Given the description of an element on the screen output the (x, y) to click on. 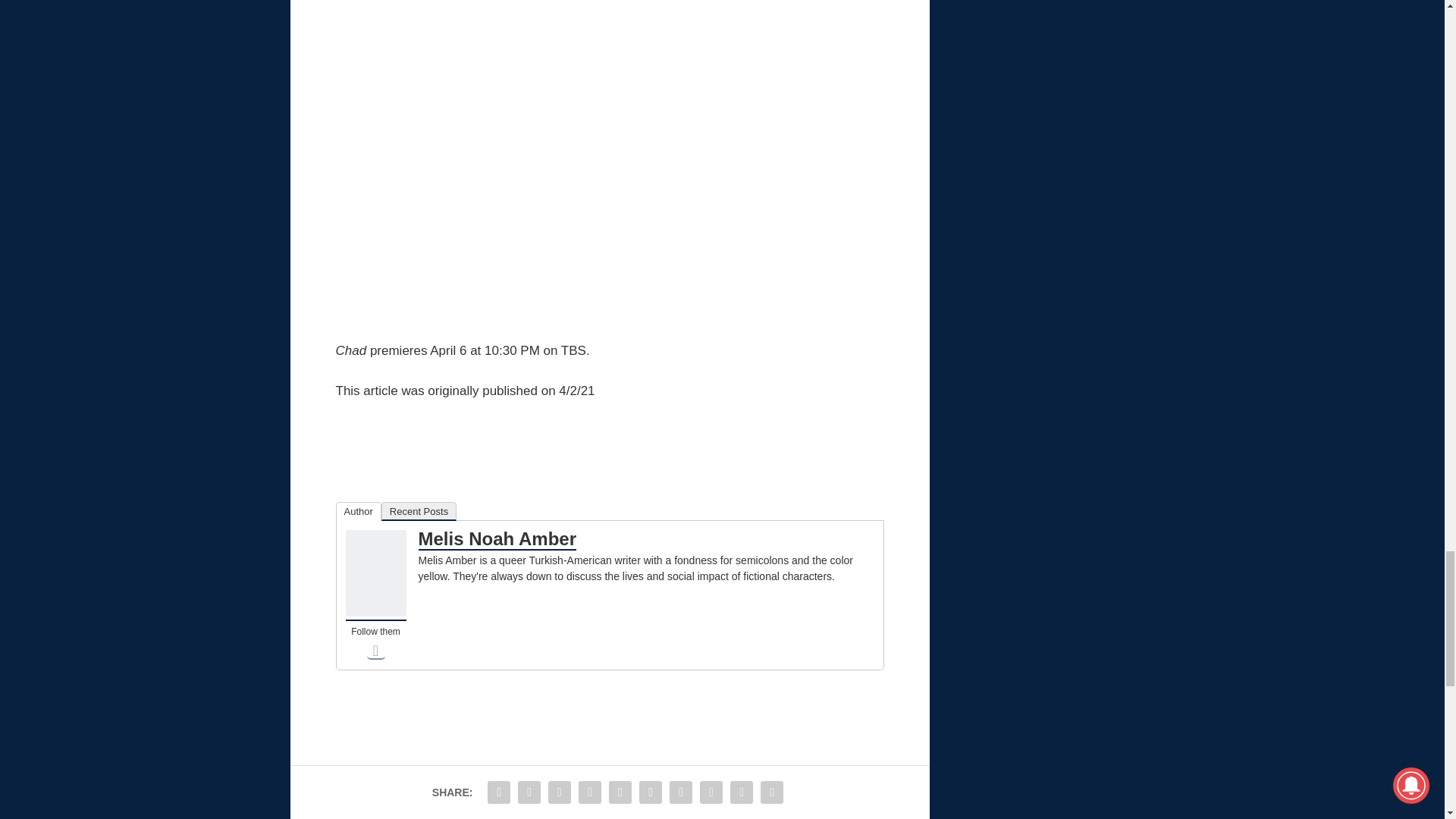
Share "CHAD Review: Nasim Pedrad WHY!?!?!" via Twitter (528, 792)
Share "CHAD Review: Nasim Pedrad WHY!?!?!" via Buffer (680, 792)
Twitter (375, 650)
Share "CHAD Review: Nasim Pedrad WHY!?!?!" via Tumblr (590, 792)
Share "CHAD Review: Nasim Pedrad WHY!?!?!" via LinkedIn (649, 792)
Share "CHAD Review: Nasim Pedrad WHY!?!?!" via Stumbleupon (710, 792)
Share "CHAD Review: Nasim Pedrad WHY!?!?!" via Pinterest (619, 792)
Share "CHAD Review: Nasim Pedrad WHY!?!?!" via Facebook (498, 792)
Melis Noah Amber (376, 612)
